Given the description of an element on the screen output the (x, y) to click on. 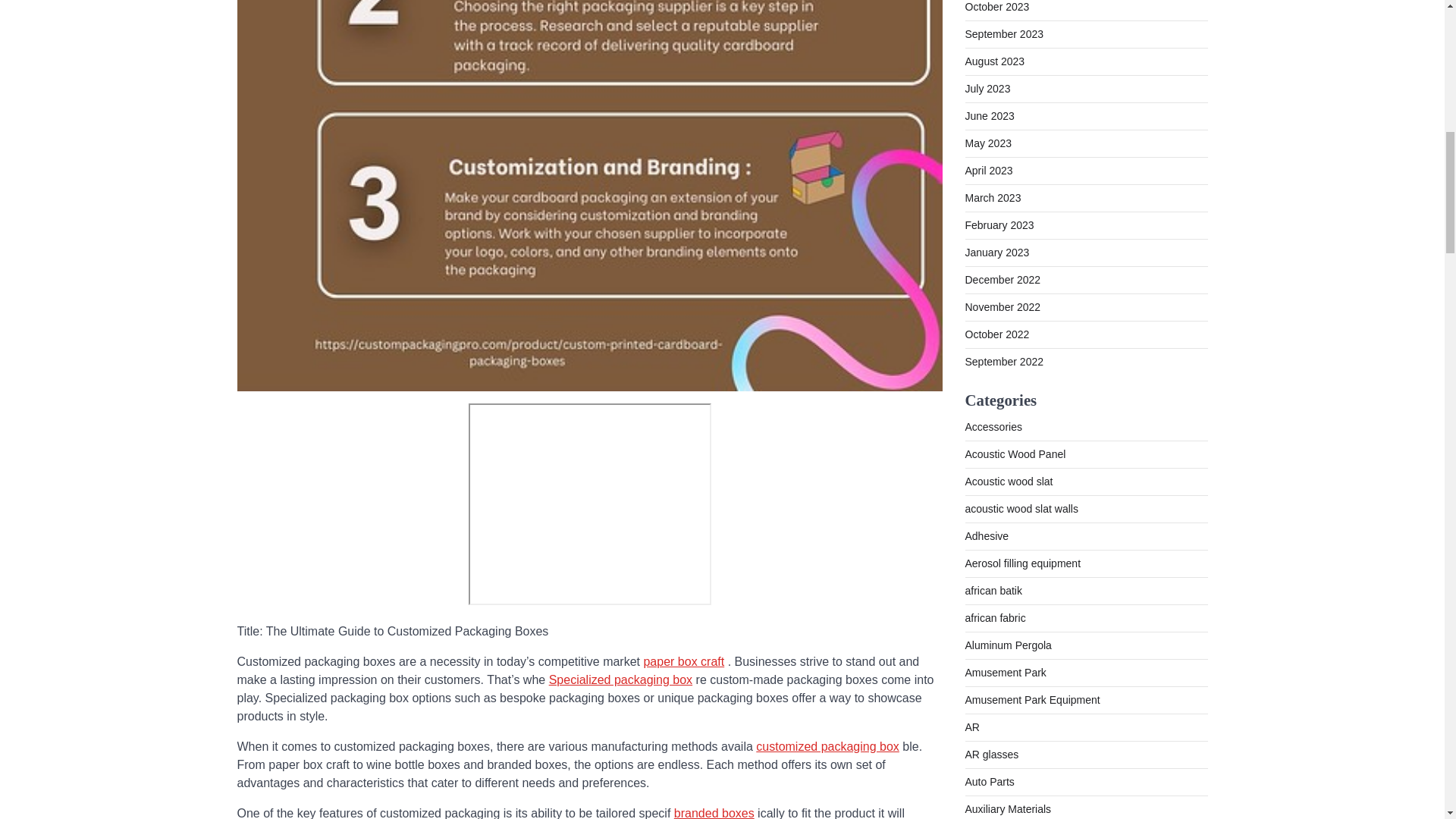
August 2023 (994, 61)
paper box craft (683, 661)
September 2023 (1003, 33)
July 2023 (986, 88)
branded boxes (714, 812)
October 2023 (996, 6)
Specialized packaging box (620, 679)
customized packaging box (827, 746)
June 2023 (988, 115)
